Given the description of an element on the screen output the (x, y) to click on. 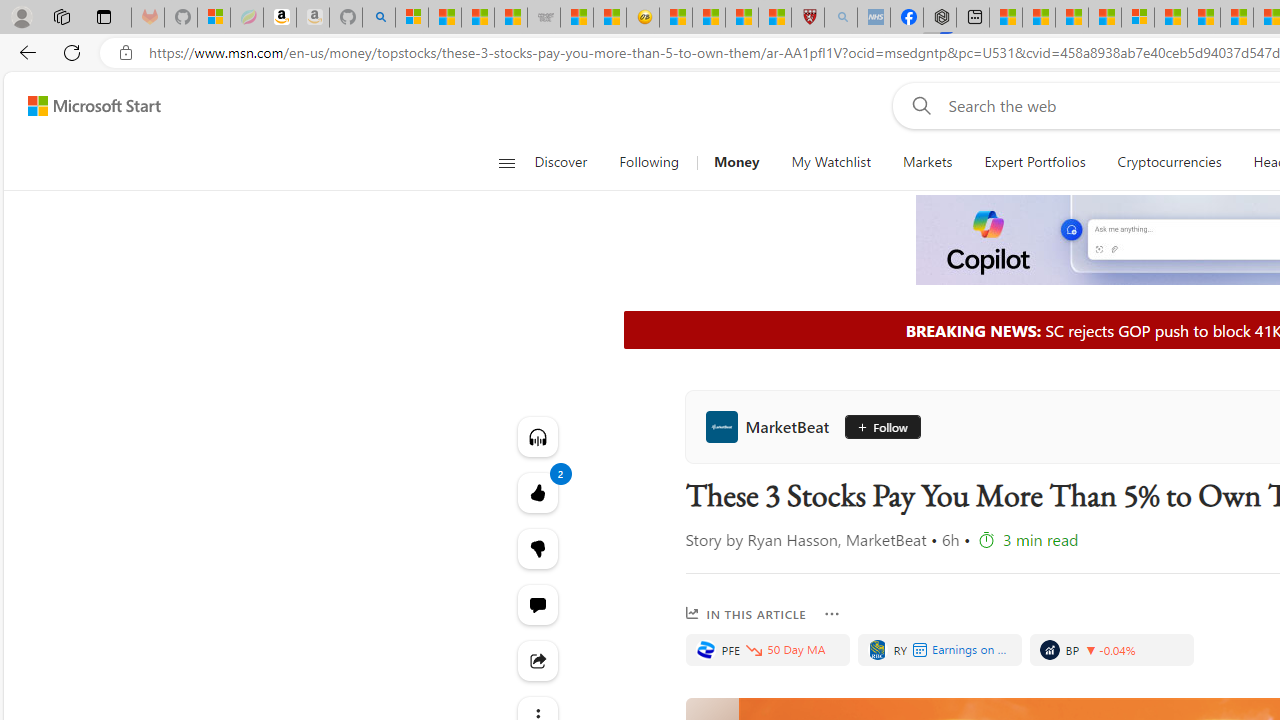
12 Popular Science Lies that Must be Corrected (775, 17)
MarketBeat (771, 426)
Web search (917, 105)
Markets (926, 162)
Combat Siege (543, 17)
Skip to footer (82, 105)
